Given the description of an element on the screen output the (x, y) to click on. 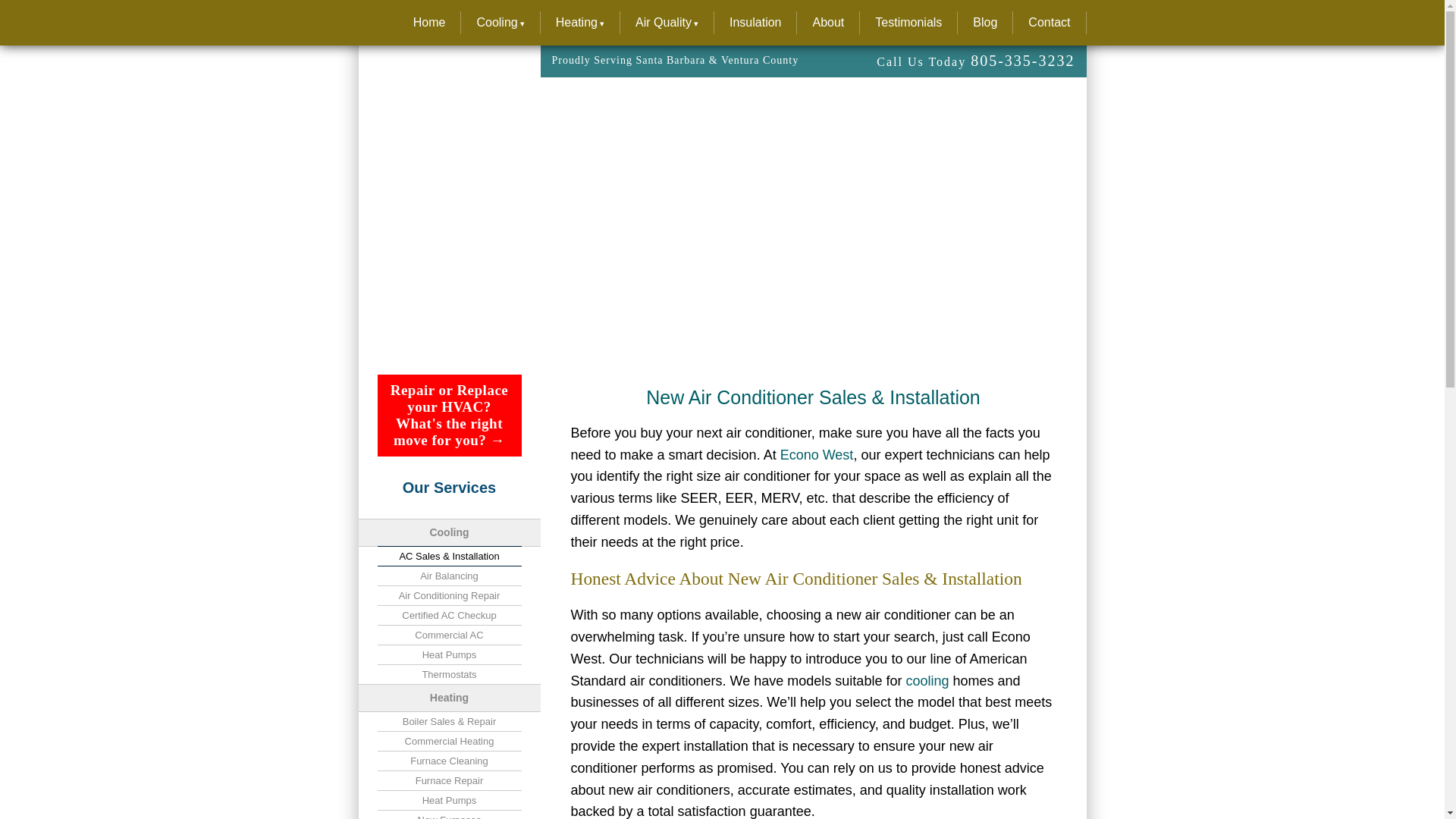
Econo West (429, 22)
Insulation (755, 22)
Air Quality (666, 22)
Econo West (816, 454)
Econo West (816, 454)
Testimonials (908, 22)
Call us Today (864, 61)
cooling (927, 680)
Cooling (927, 680)
About (828, 22)
